Given the description of an element on the screen output the (x, y) to click on. 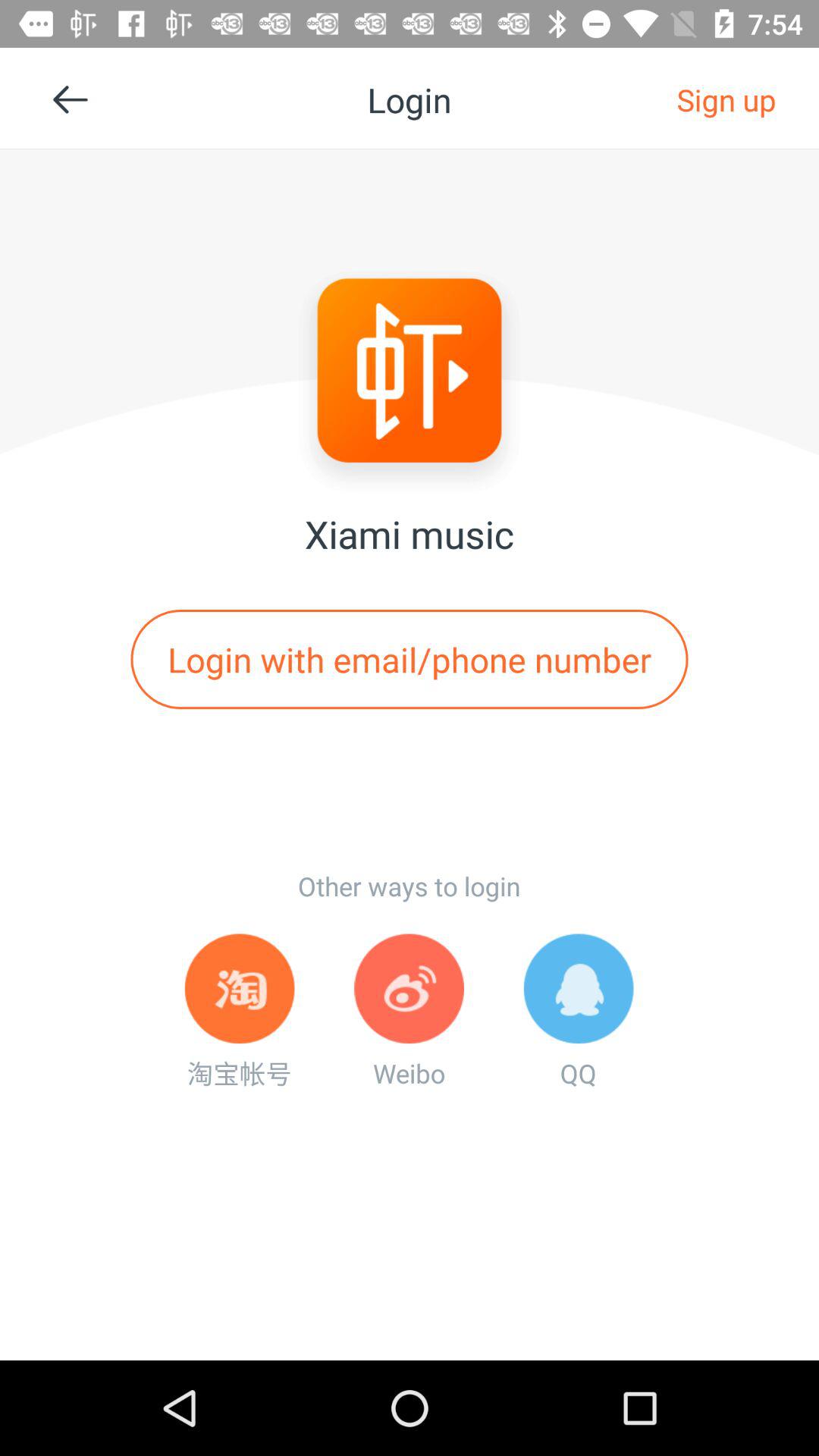
scroll until the qq app (578, 1011)
